Given the description of an element on the screen output the (x, y) to click on. 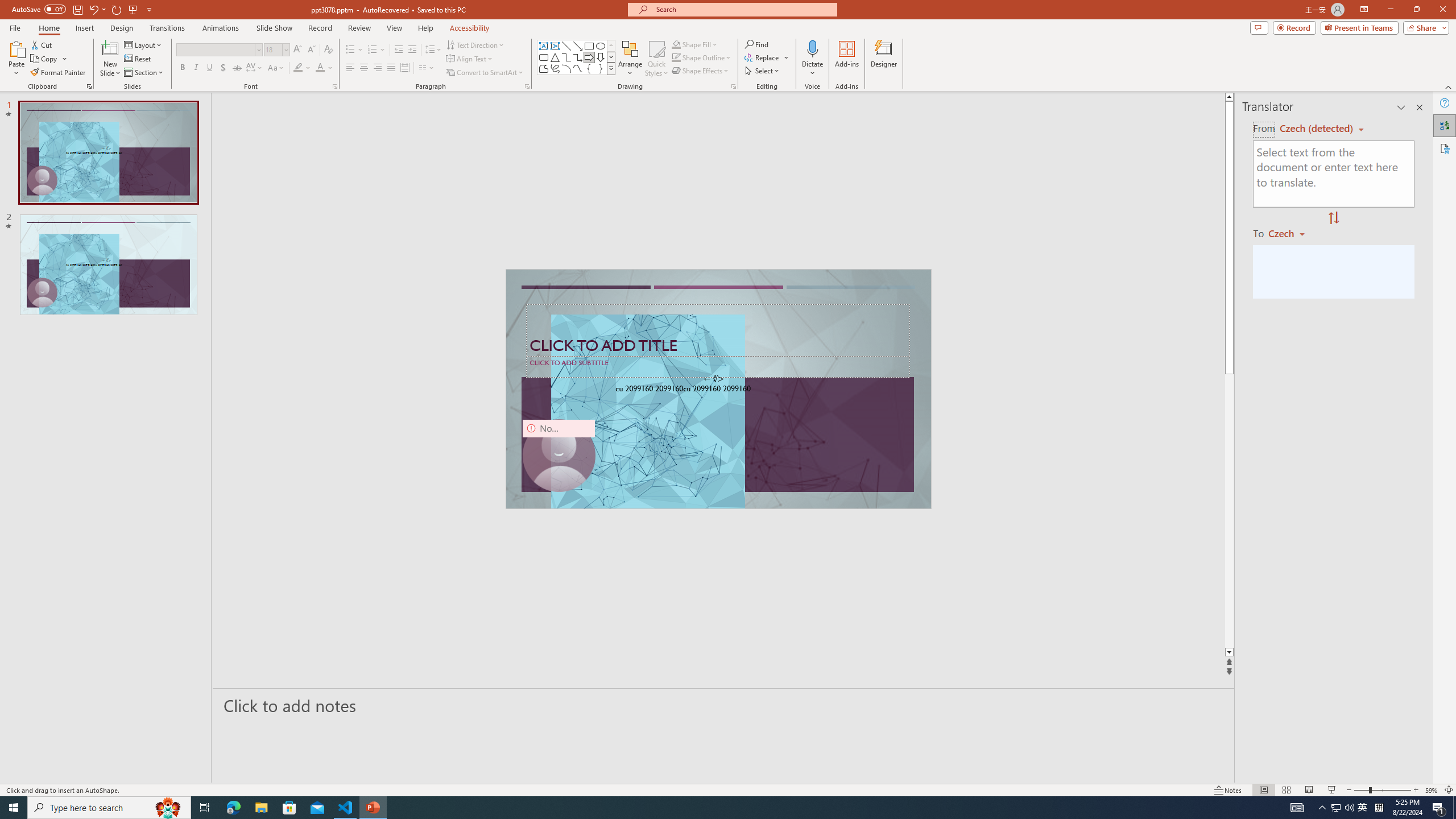
Application Menu (76, 183)
Views and More Actions... (979, 182)
Toggle Secondary Side Bar (Ctrl+Alt+B) (1015, 150)
Outline Section (188, 725)
